Given the description of an element on the screen output the (x, y) to click on. 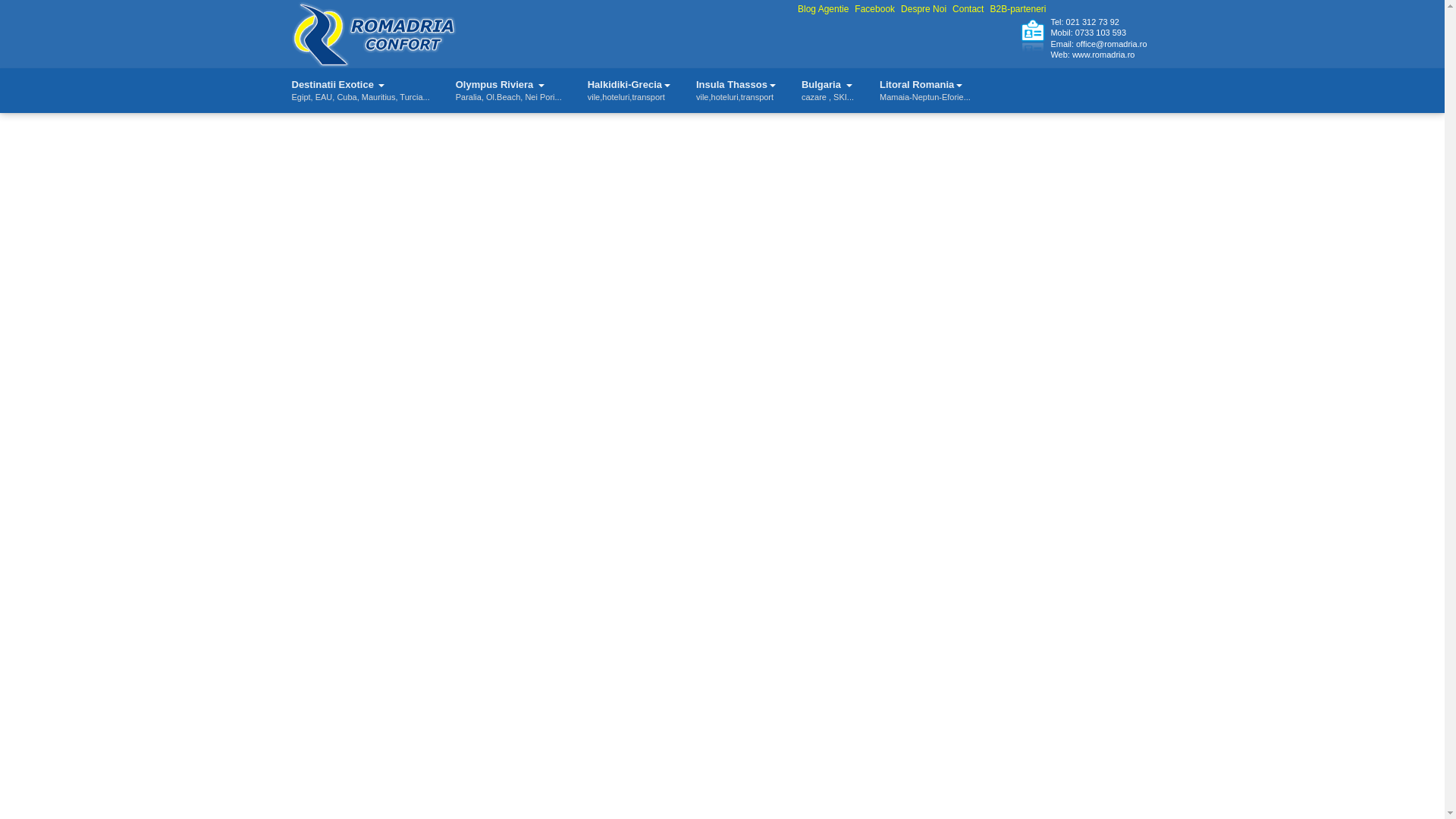
Quick-Sell Logo (508, 90)
021 312 73 92 (628, 90)
0733 103 593 (373, 33)
